Given the description of an element on the screen output the (x, y) to click on. 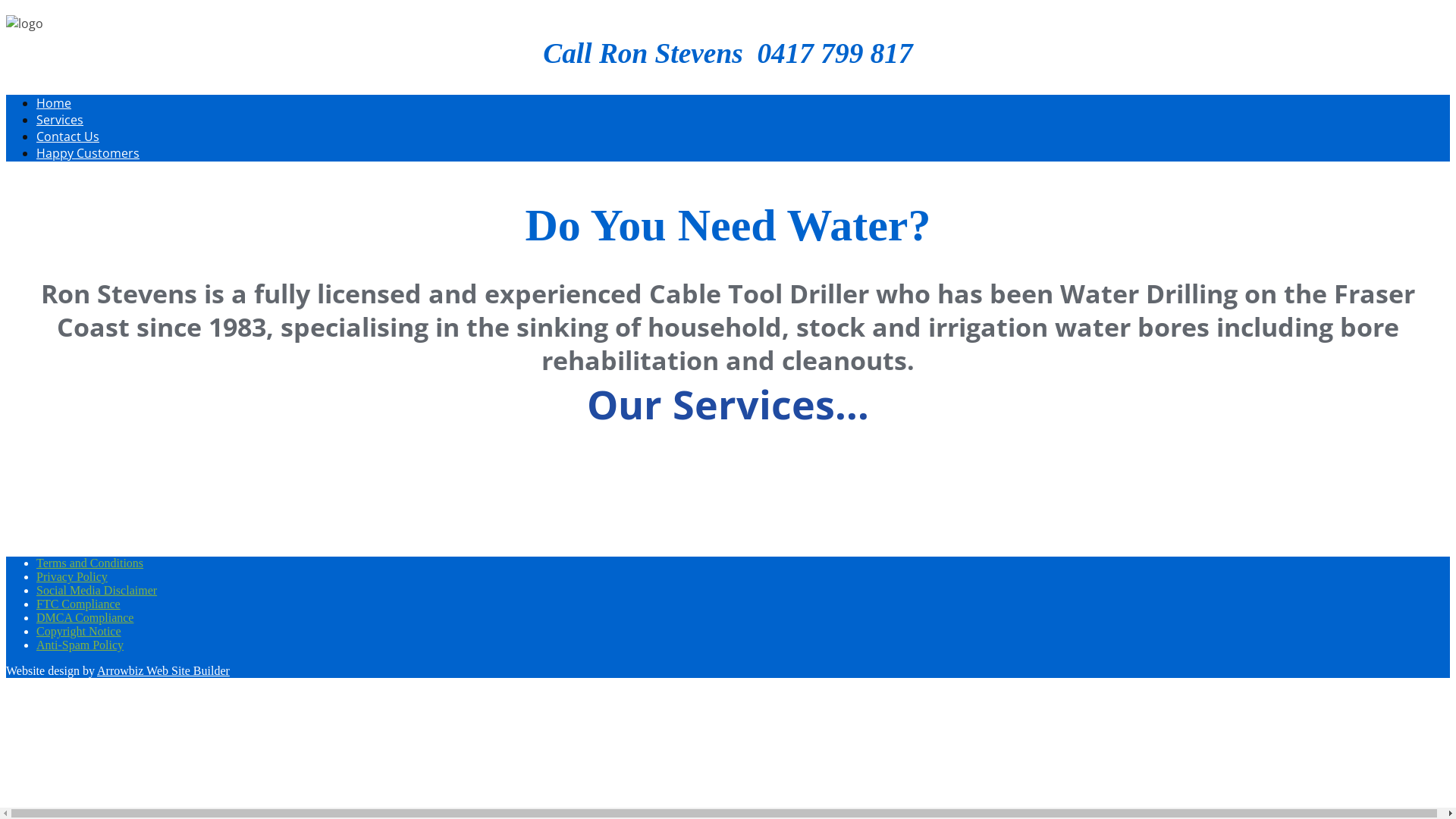
Arrowbiz Web Site Builder Element type: text (163, 670)
FTC Compliance Element type: text (78, 603)
Privacy Policy Element type: text (71, 576)
Terms and Conditions Element type: text (89, 562)
Anti-Spam Policy Element type: text (79, 644)
Home Element type: text (53, 102)
Copyright Notice Element type: text (78, 630)
DMCA Compliance Element type: text (84, 617)
Happy Customers Element type: text (87, 152)
Social Media Disclaimer Element type: text (96, 589)
Services Element type: text (59, 119)
Contact Us Element type: text (67, 136)
